Given the description of an element on the screen output the (x, y) to click on. 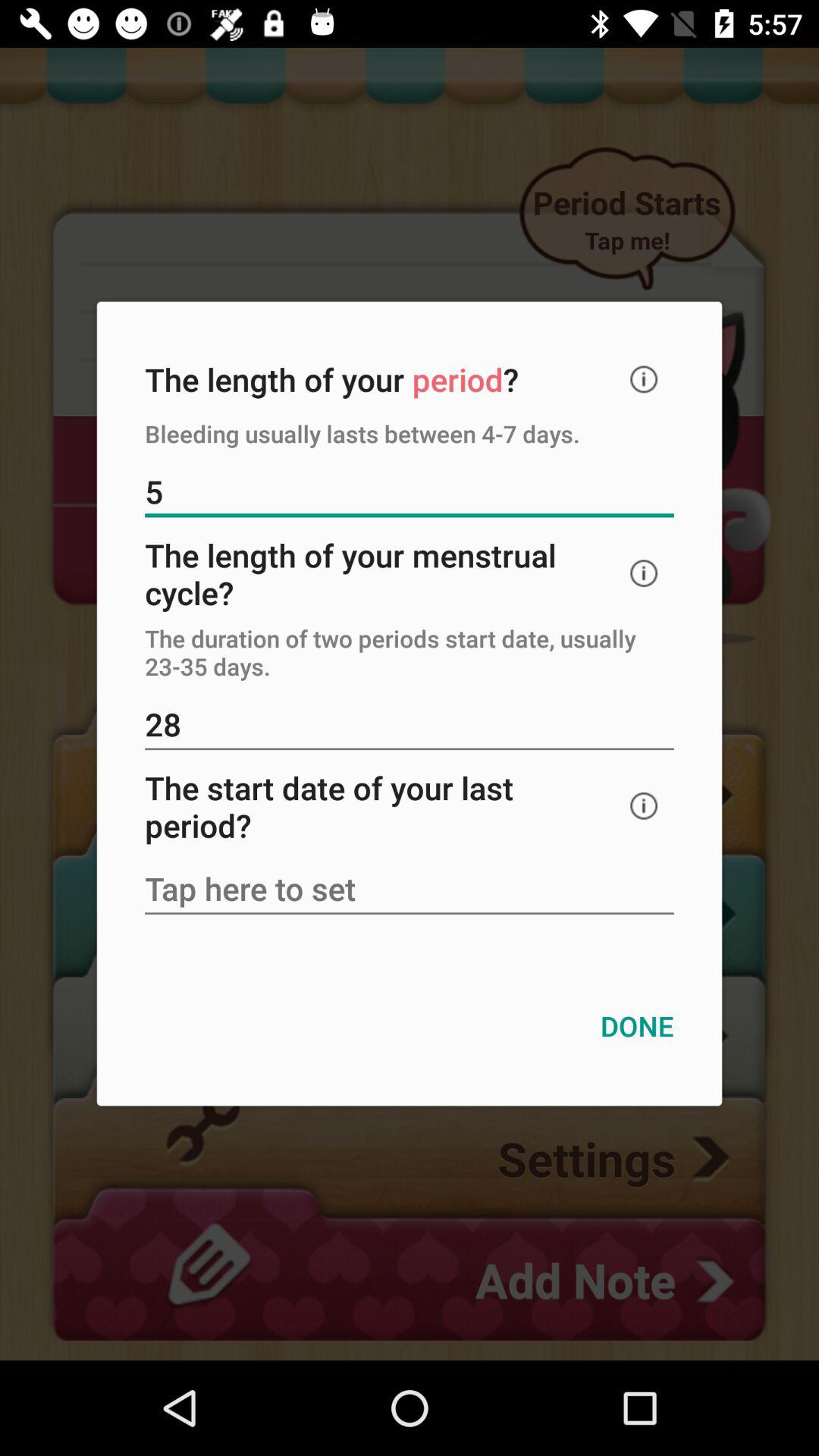
open the icon below the the start date (409, 890)
